Given the description of an element on the screen output the (x, y) to click on. 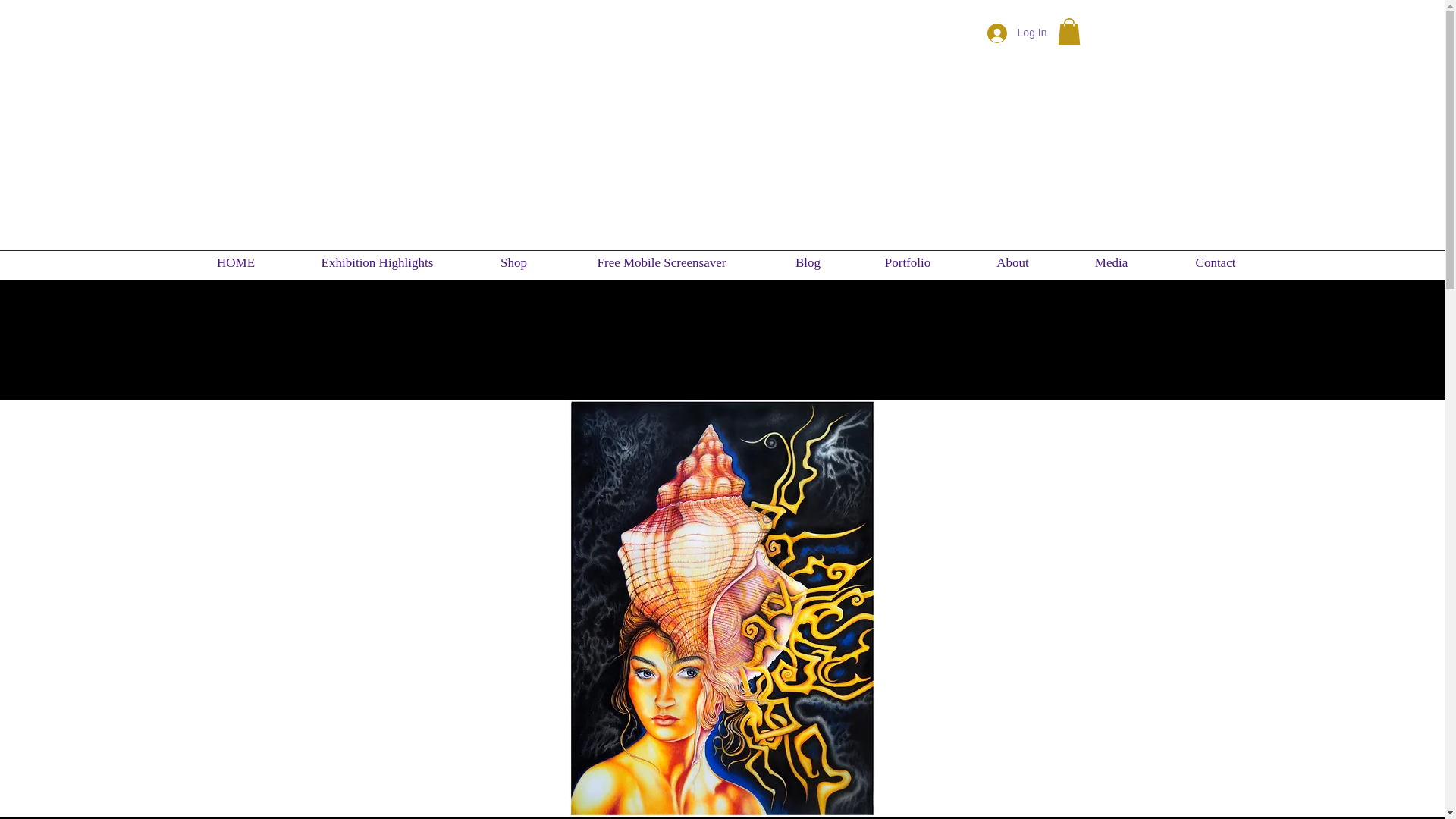
Media (1110, 263)
Contact (1214, 263)
HOME (234, 263)
Blog (807, 263)
Free Mobile Screensaver (661, 263)
Shop (513, 263)
Log In (1017, 32)
Exhibition Highlights (377, 263)
Portfolio (907, 263)
